Given the description of an element on the screen output the (x, y) to click on. 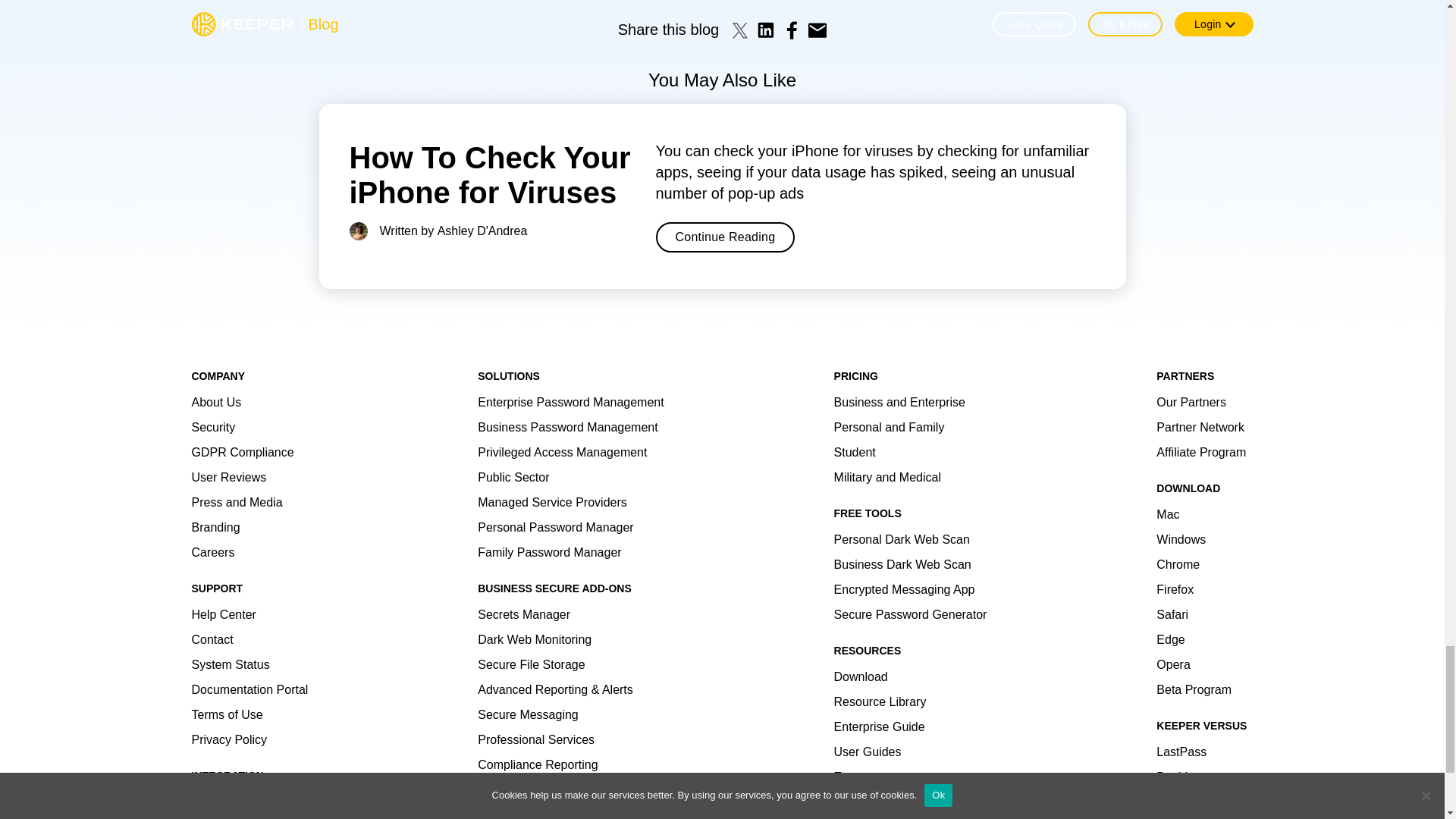
Press and Media (236, 502)
User Reviews (228, 477)
Branding (215, 526)
About Us (215, 401)
GDPR Compliance (242, 451)
Security (212, 427)
D'Andrea Professional Headshot (357, 230)
